Given the description of an element on the screen output the (x, y) to click on. 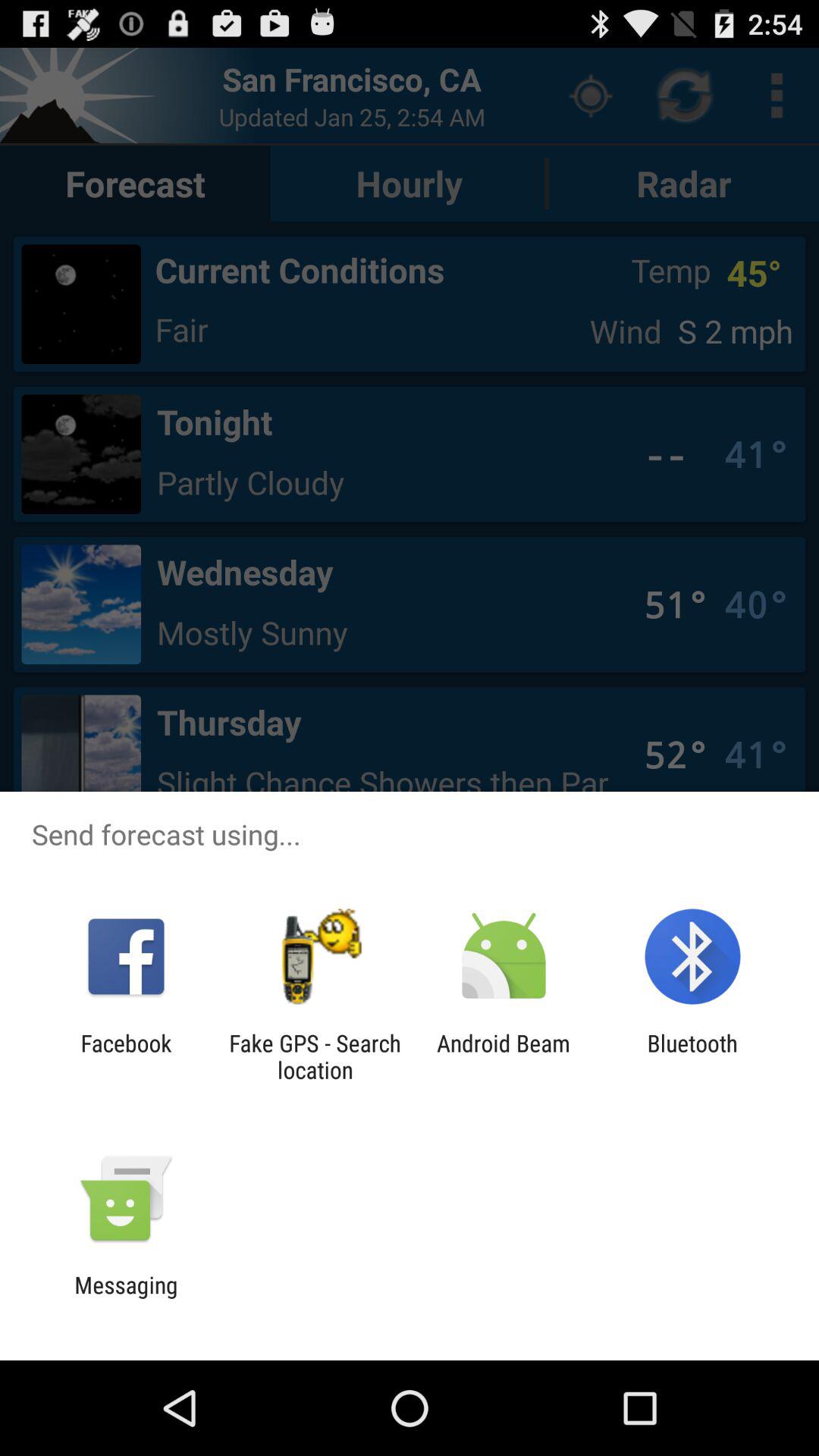
select app next to fake gps search (503, 1056)
